Given the description of an element on the screen output the (x, y) to click on. 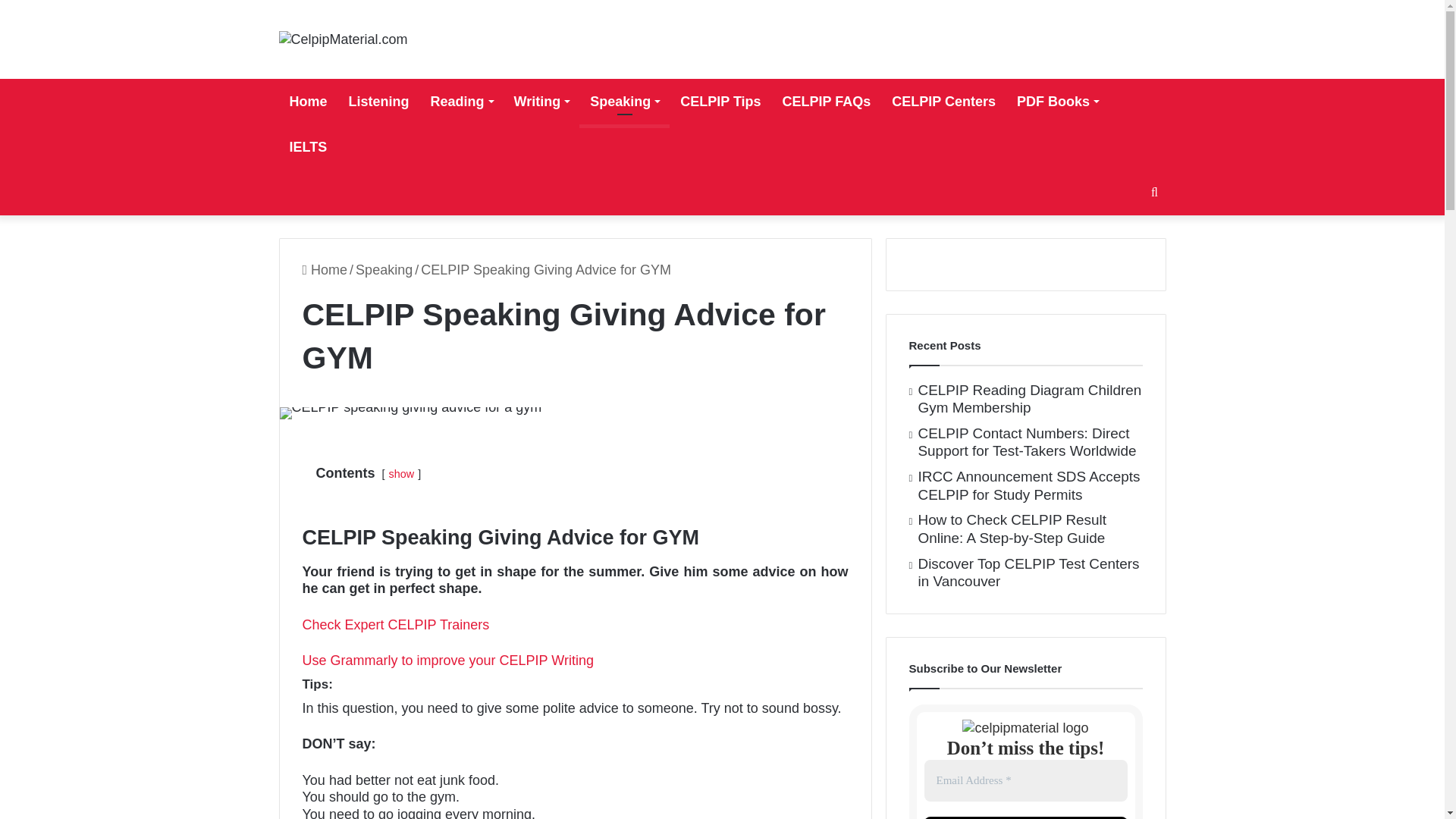
PDF Books (1057, 101)
CELPIP Centers (943, 101)
JOIN THE NEWSLETTER (1025, 817)
Home (308, 101)
Use Grammarly to improve your CELPIP Writing (446, 660)
CELPIP FAQs (826, 101)
Reading (461, 101)
Speaking (624, 101)
Listening (378, 101)
Writing (541, 101)
